Given the description of an element on the screen output the (x, y) to click on. 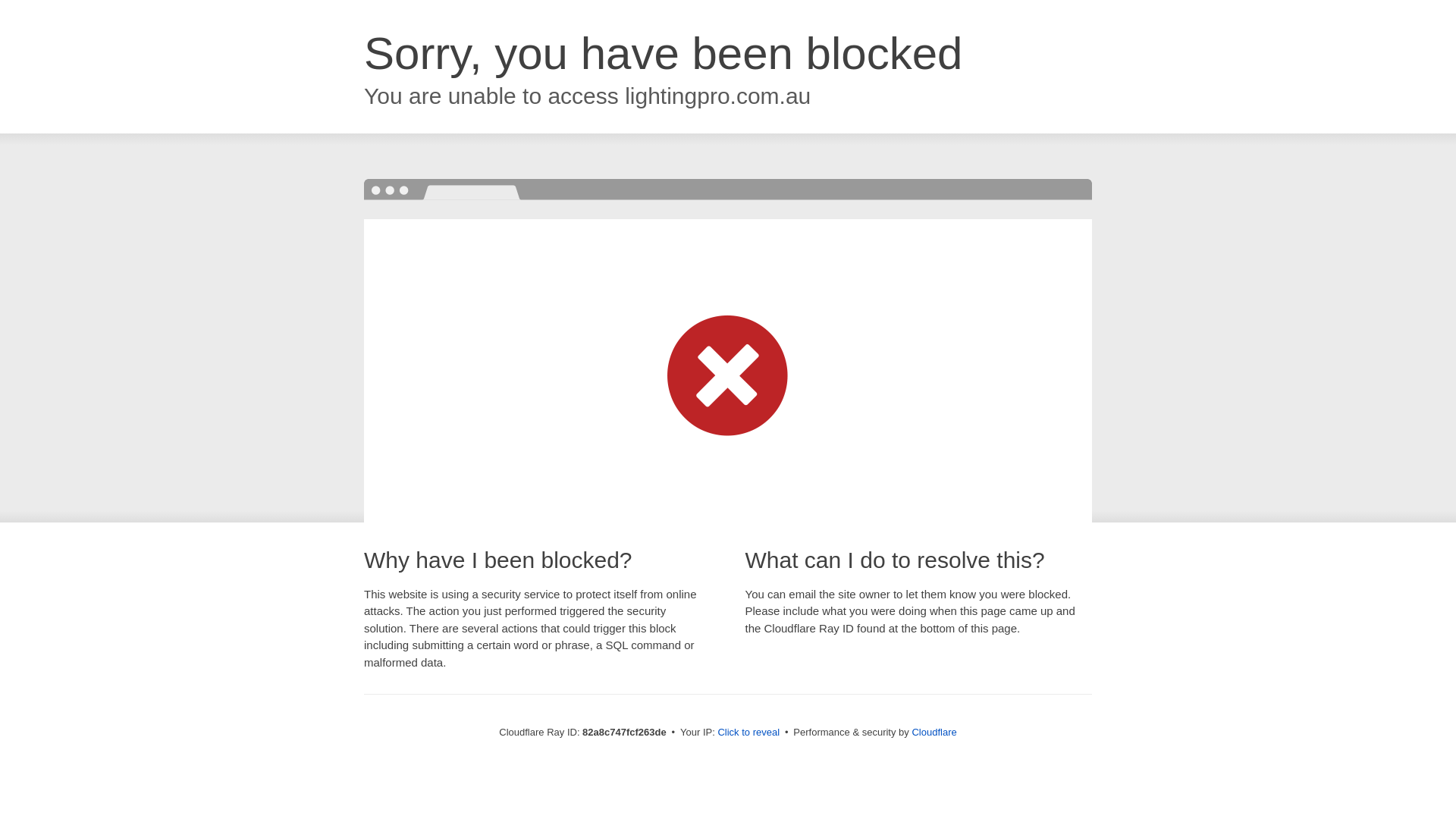
Cloudflare Element type: text (933, 731)
Click to reveal Element type: text (748, 732)
